Given the description of an element on the screen output the (x, y) to click on. 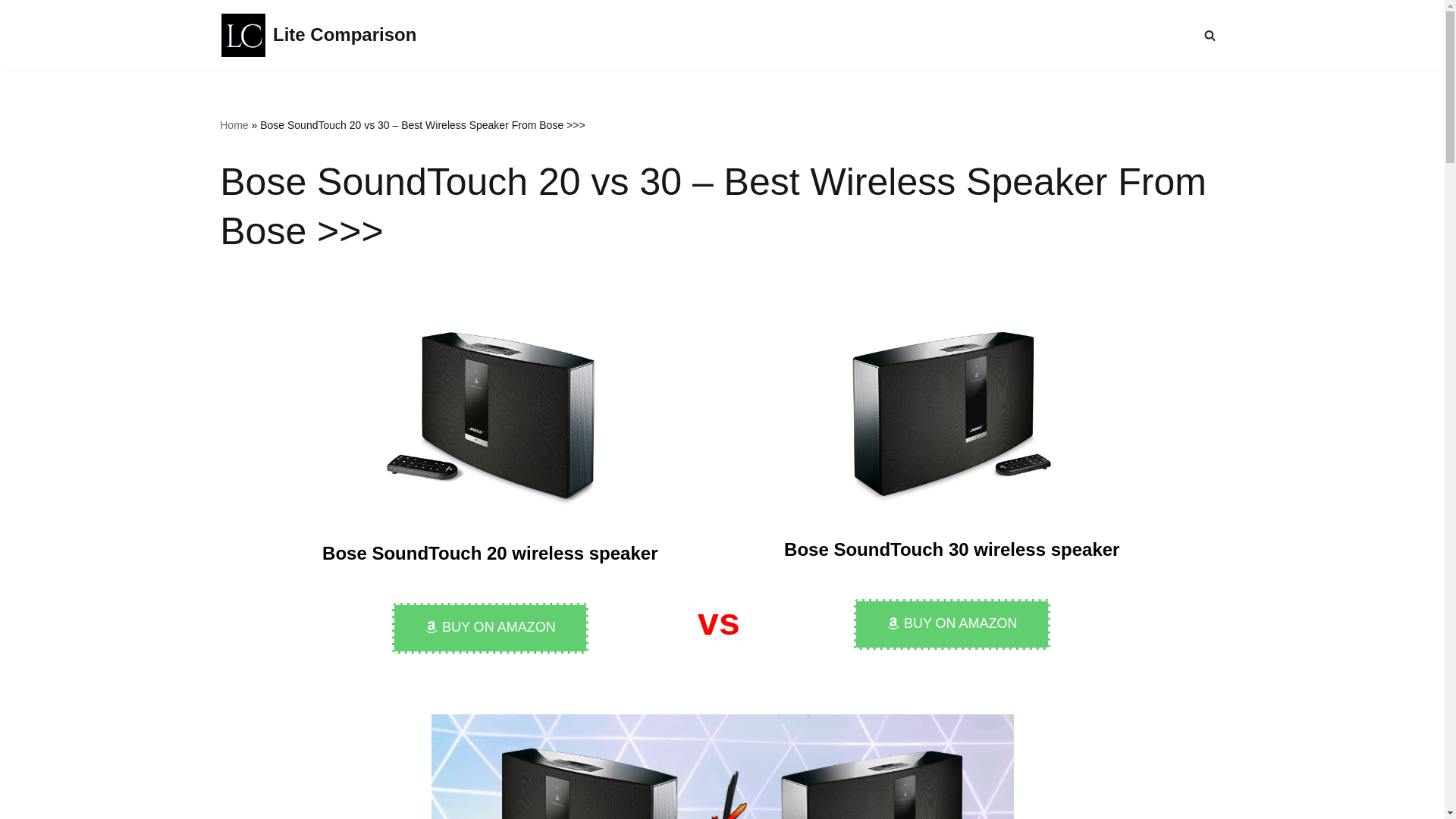
Home (233, 124)
BUY ON AMAZON (951, 624)
Skip to content (11, 31)
Lite Comparison (318, 34)
BUY ON AMAZON (489, 627)
